Given the description of an element on the screen output the (x, y) to click on. 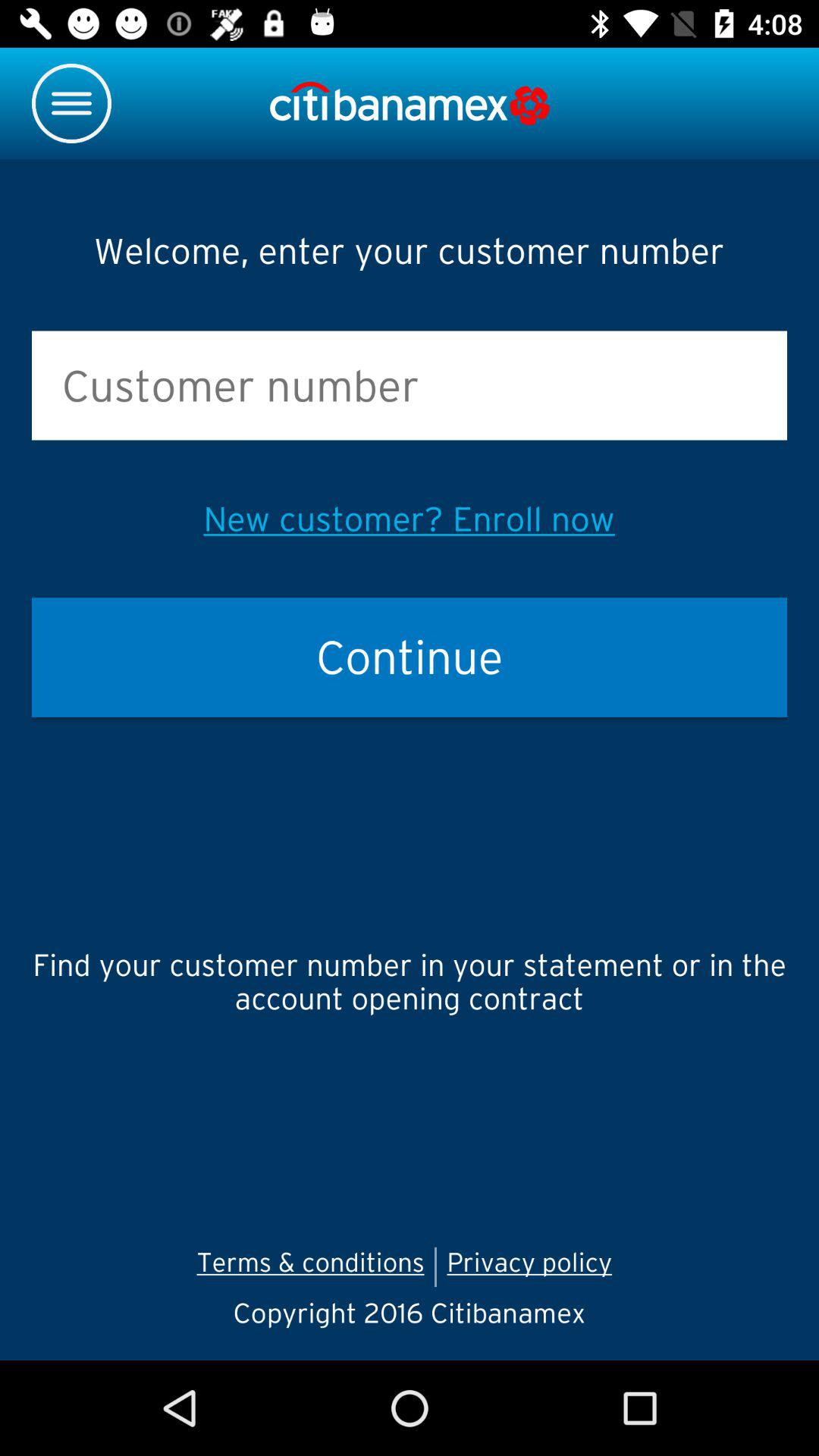
turn off item below the new customer enroll (409, 657)
